Given the description of an element on the screen output the (x, y) to click on. 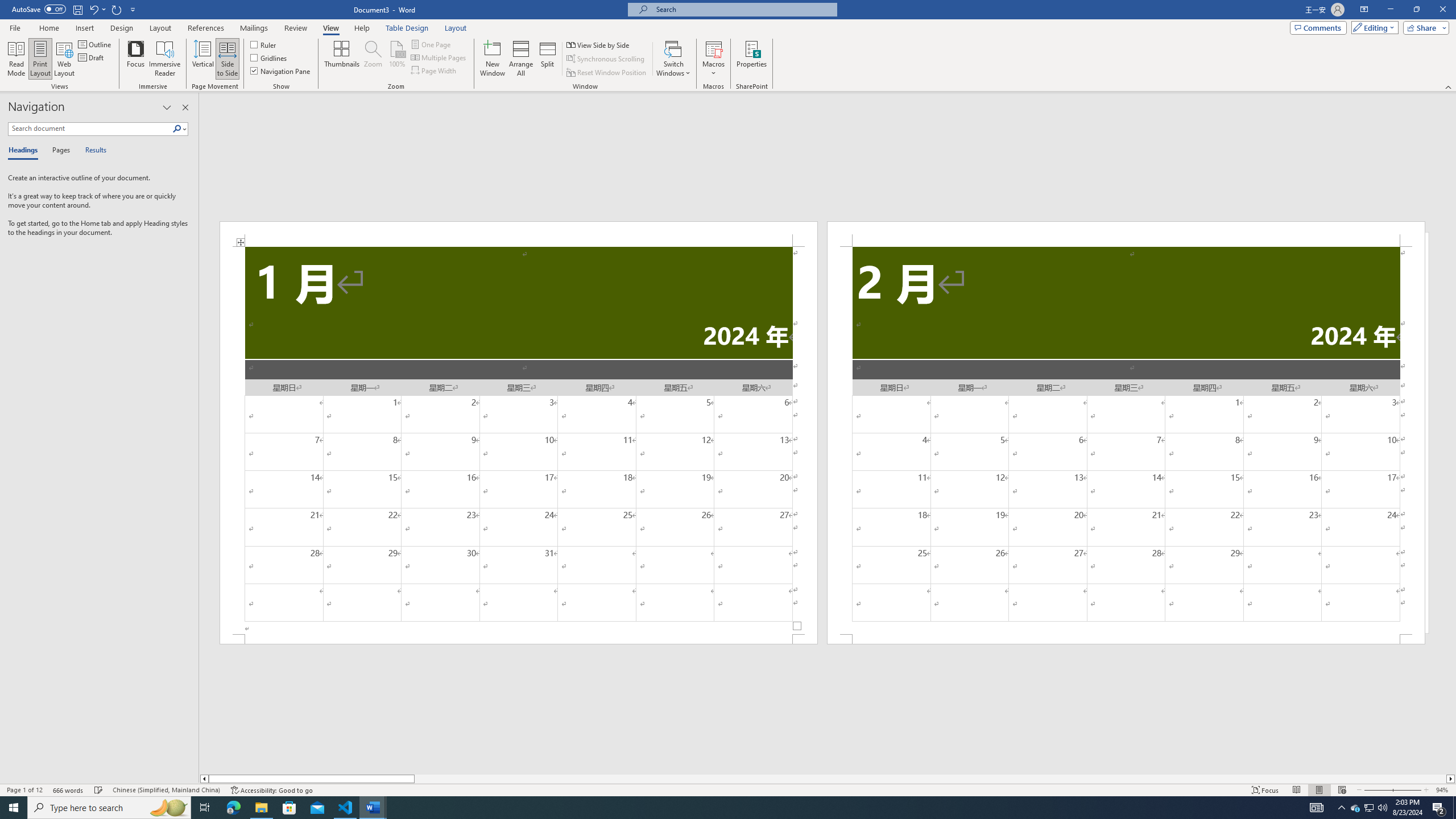
Synchronous Scrolling (605, 58)
Column left (203, 778)
Multiple Pages (439, 56)
Footer -Section 2- (1126, 638)
